Given the description of an element on the screen output the (x, y) to click on. 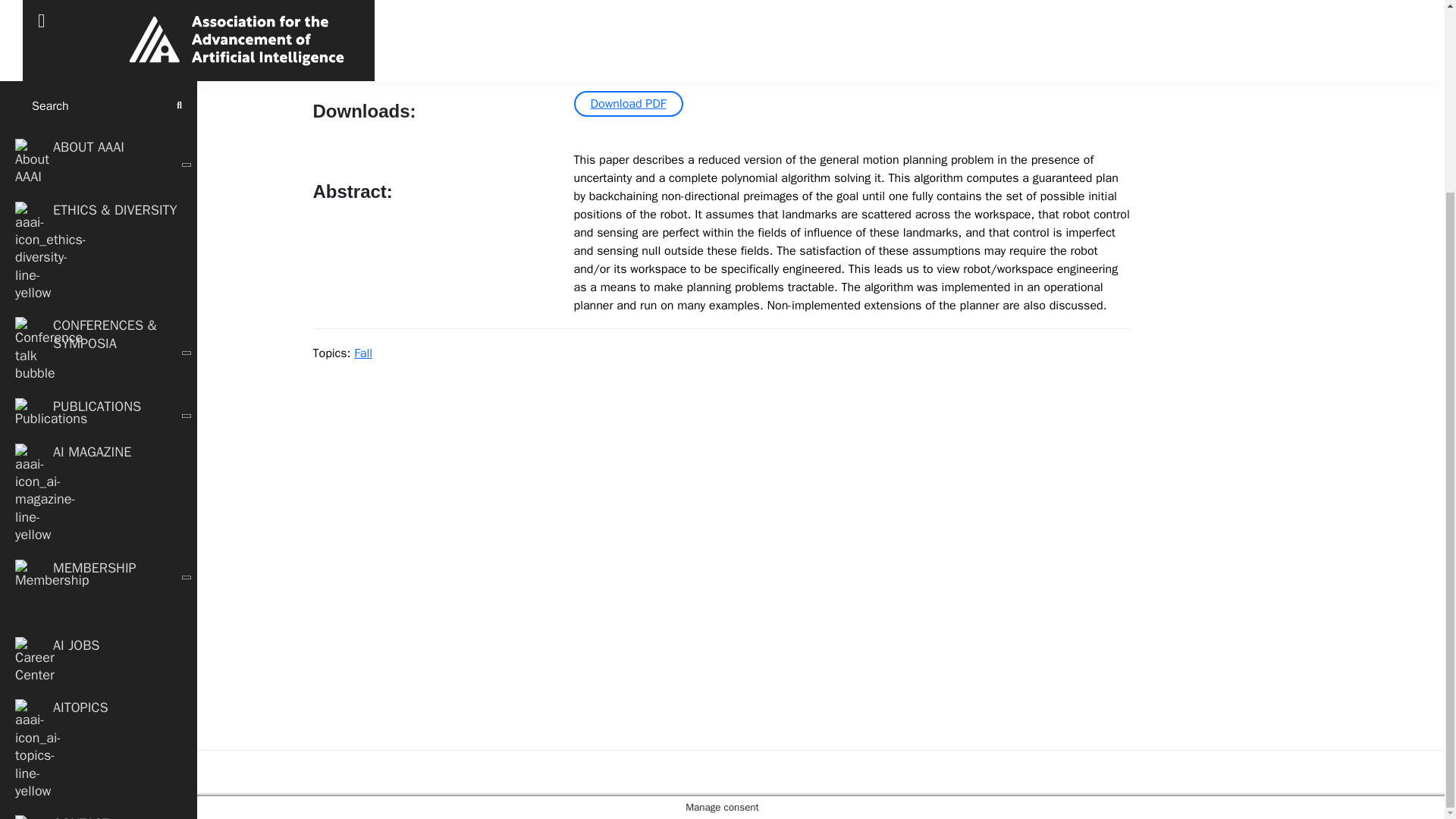
linkedin (155, 713)
Facebook (90, 713)
twitter (23, 713)
